Given the description of an element on the screen output the (x, y) to click on. 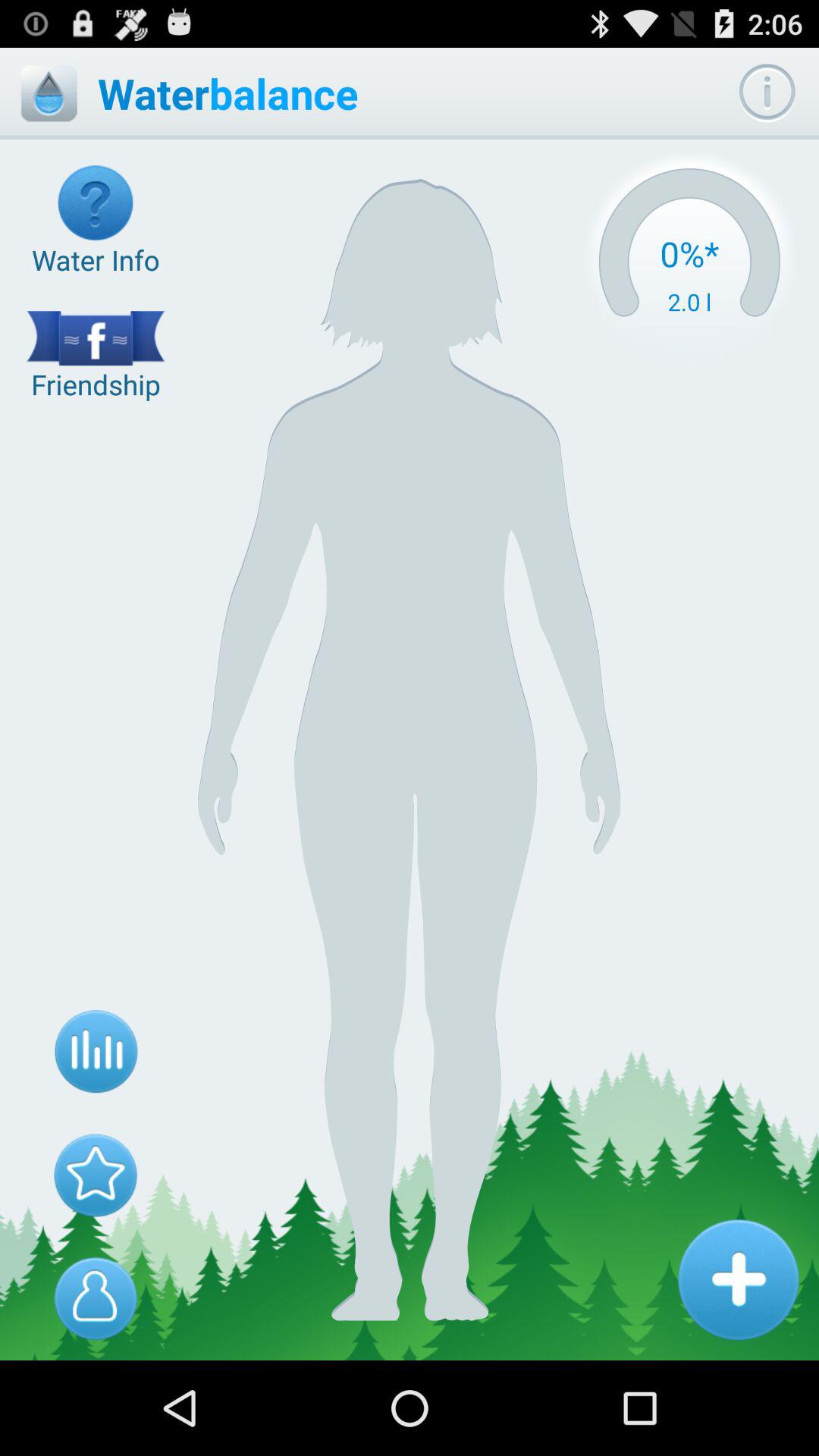
see options (767, 93)
